Given the description of an element on the screen output the (x, y) to click on. 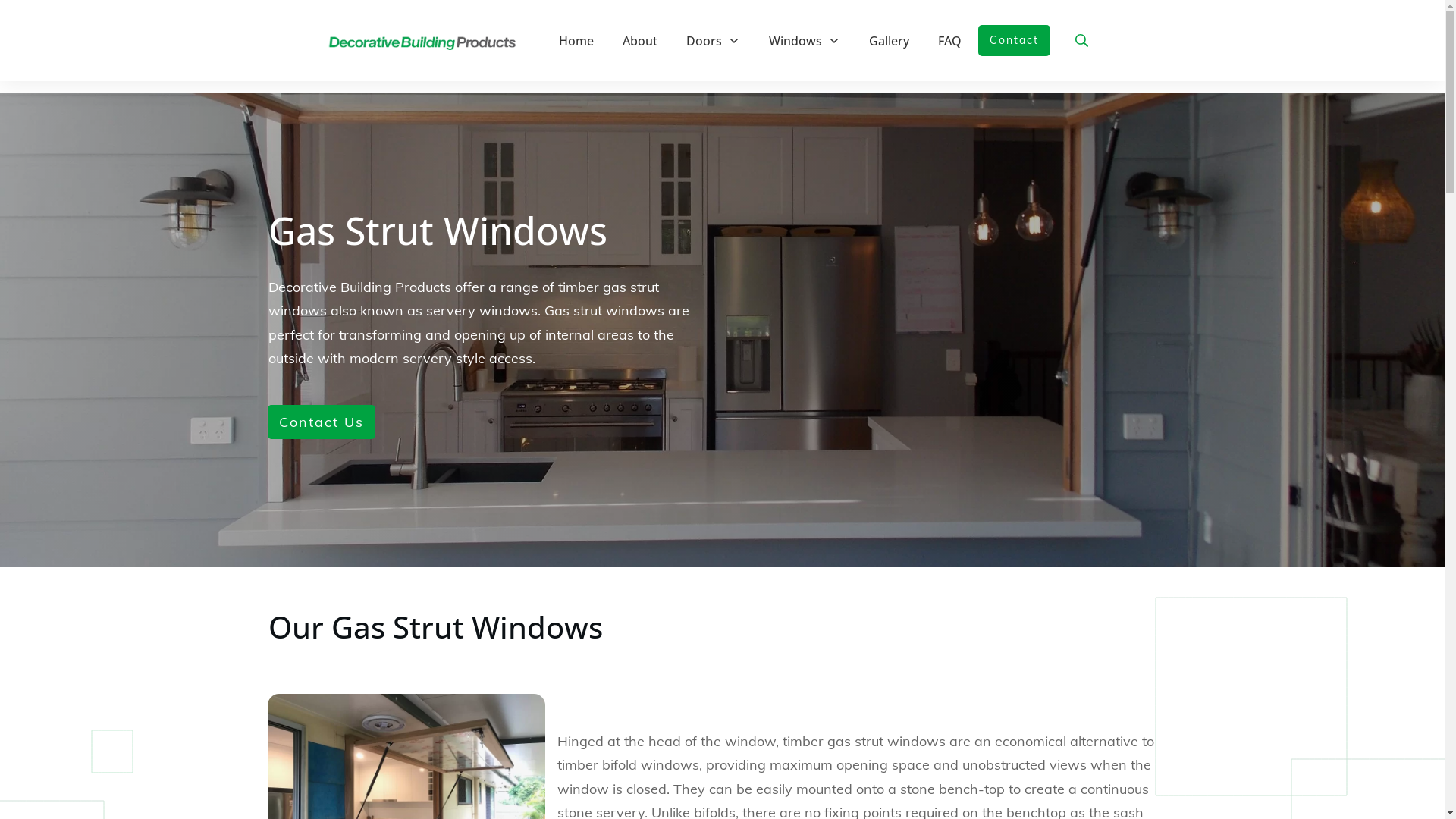
dbp_logo3 Element type: hover (421, 40)
Windows Element type: text (804, 40)
Contact Us Element type: text (320, 421)
Doors Element type: text (713, 40)
FAQ Element type: text (949, 40)
Home Element type: text (575, 40)
Gallery Element type: text (889, 40)
About Element type: text (639, 40)
Contact Element type: text (1014, 40)
